Given the description of an element on the screen output the (x, y) to click on. 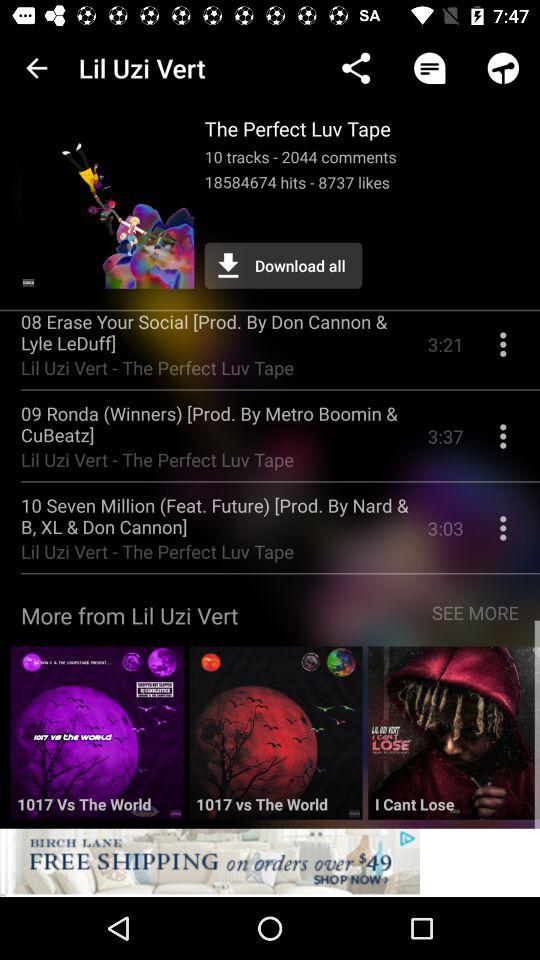
more info on song (503, 351)
